Given the description of an element on the screen output the (x, y) to click on. 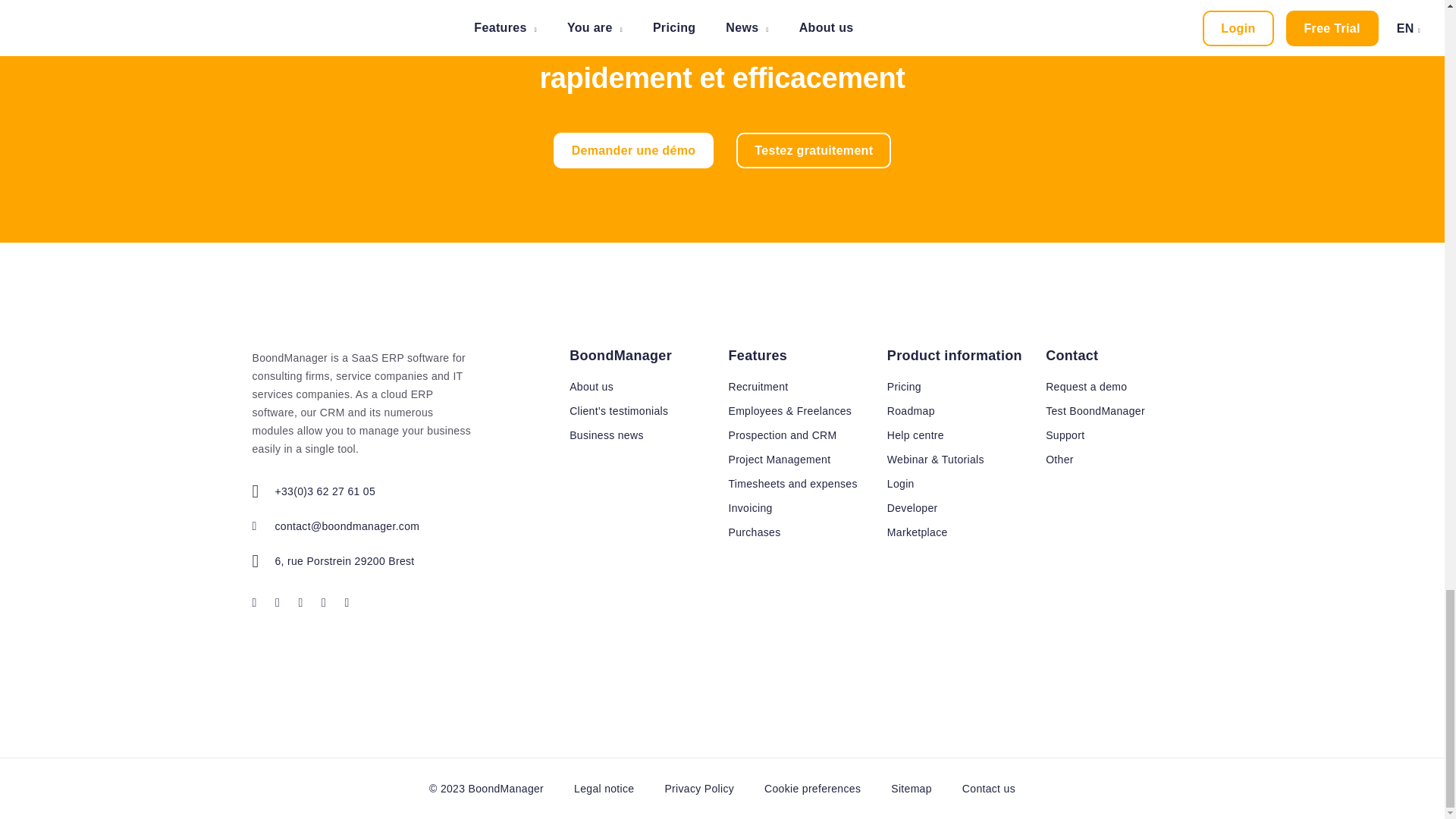
Testez gratuitement (813, 150)
6, rue Porstrein 29200 Brest (404, 561)
